Given the description of an element on the screen output the (x, y) to click on. 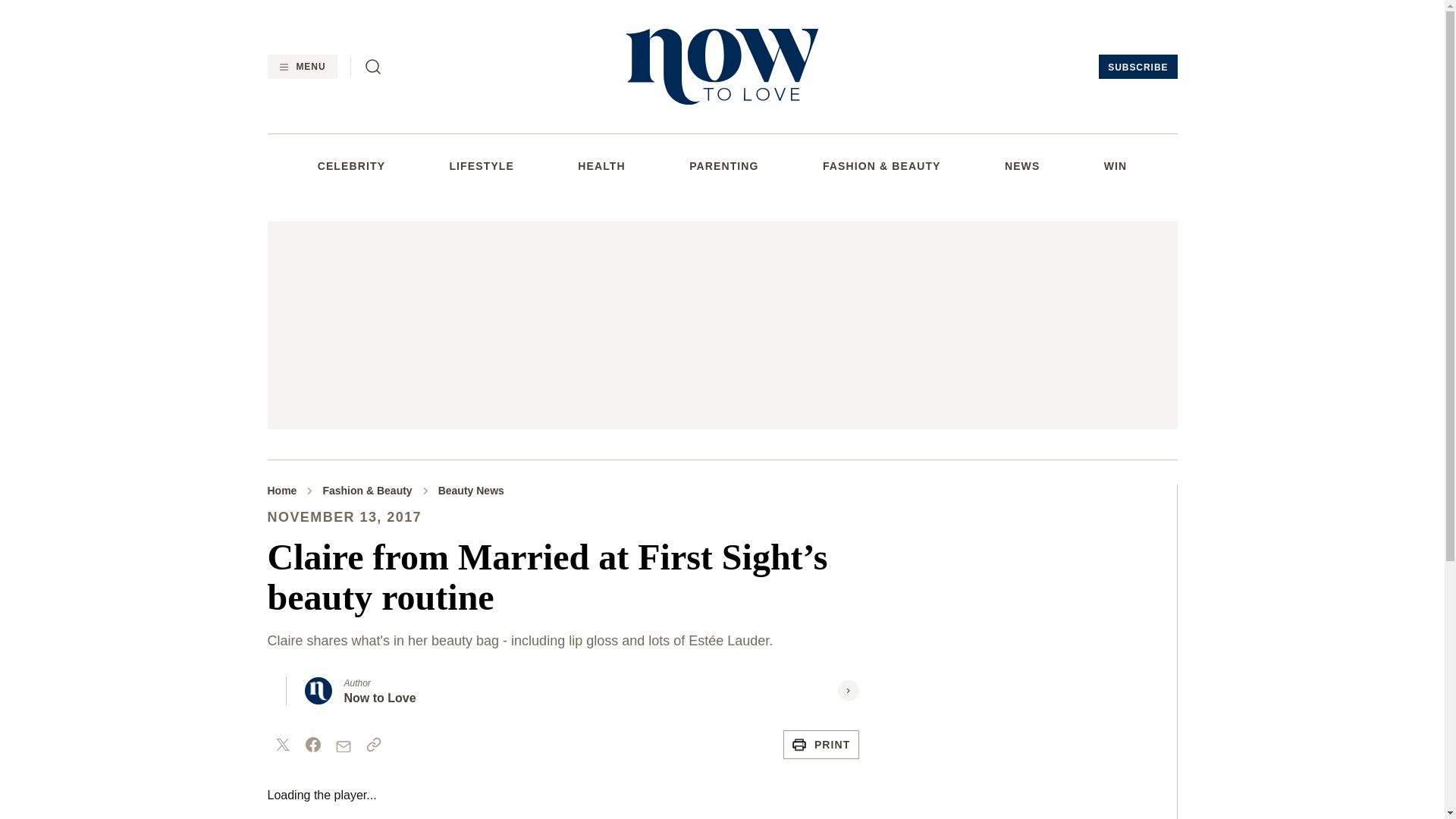
HEALTH (601, 165)
WIN (1114, 165)
MENU (301, 66)
PARENTING (723, 165)
LIFESTYLE (480, 165)
NEWS (1021, 165)
SUBSCRIBE (1137, 66)
CELEBRITY (351, 165)
